Given the description of an element on the screen output the (x, y) to click on. 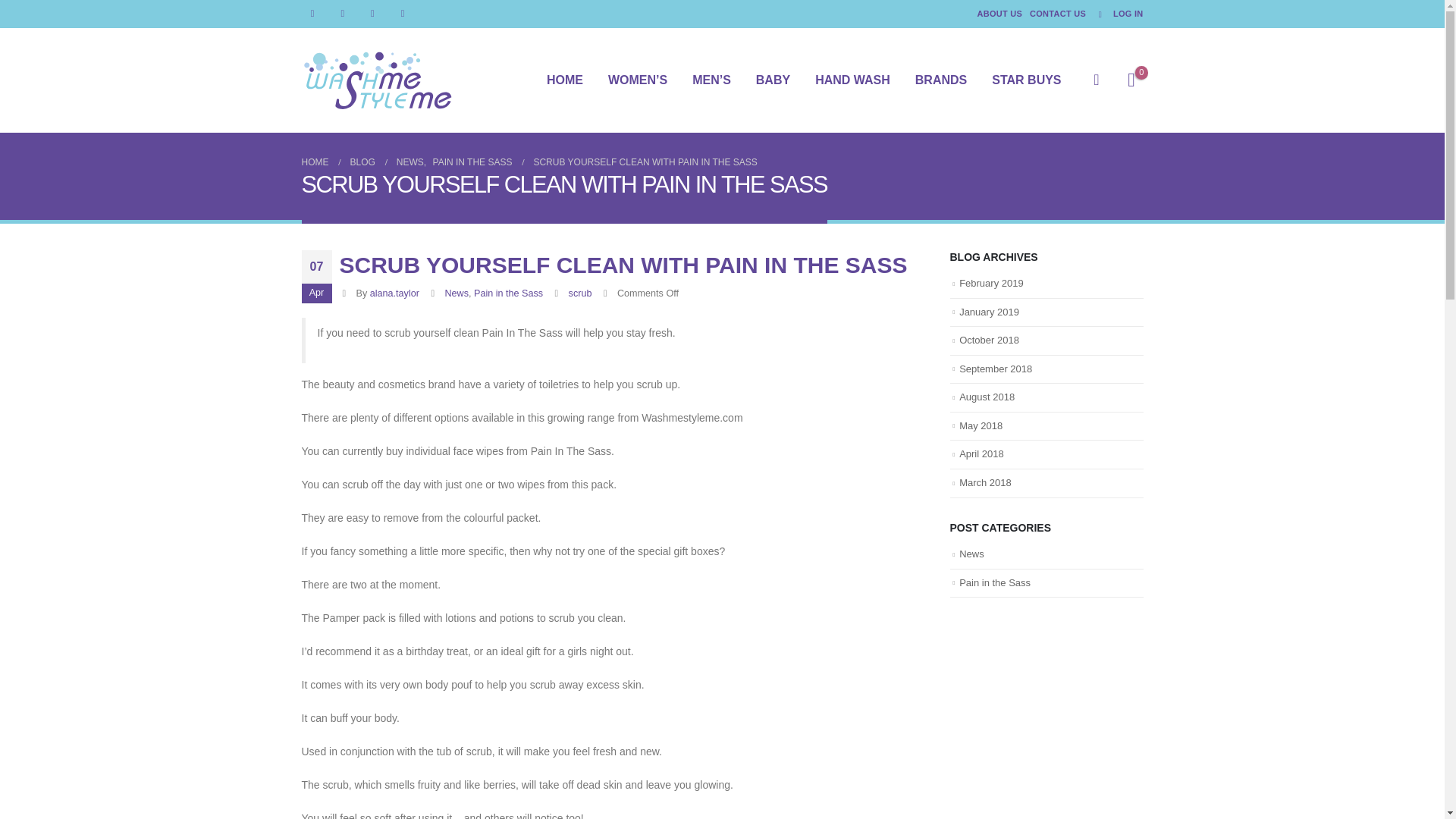
BABY (773, 80)
HOME (564, 80)
LOG IN (1115, 13)
Pinterest (372, 14)
BRANDS (940, 80)
Go to Home Page (315, 162)
Facebook (312, 14)
HAND WASH (852, 80)
Posts by alana.taylor (394, 293)
CONTACT US (1057, 13)
